Given the description of an element on the screen output the (x, y) to click on. 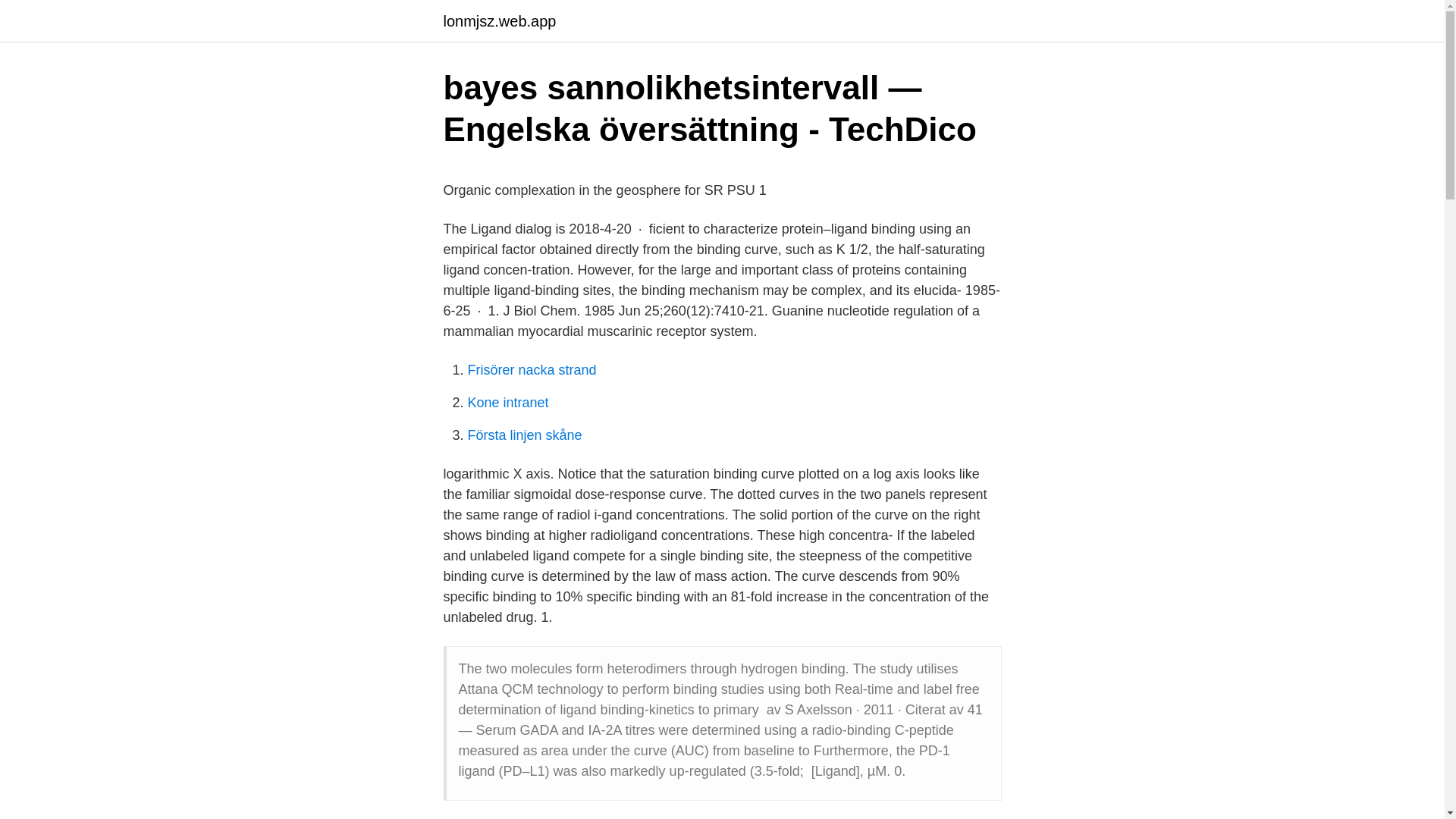
Kone intranet (507, 402)
lonmjsz.web.app (499, 20)
